Given the description of an element on the screen output the (x, y) to click on. 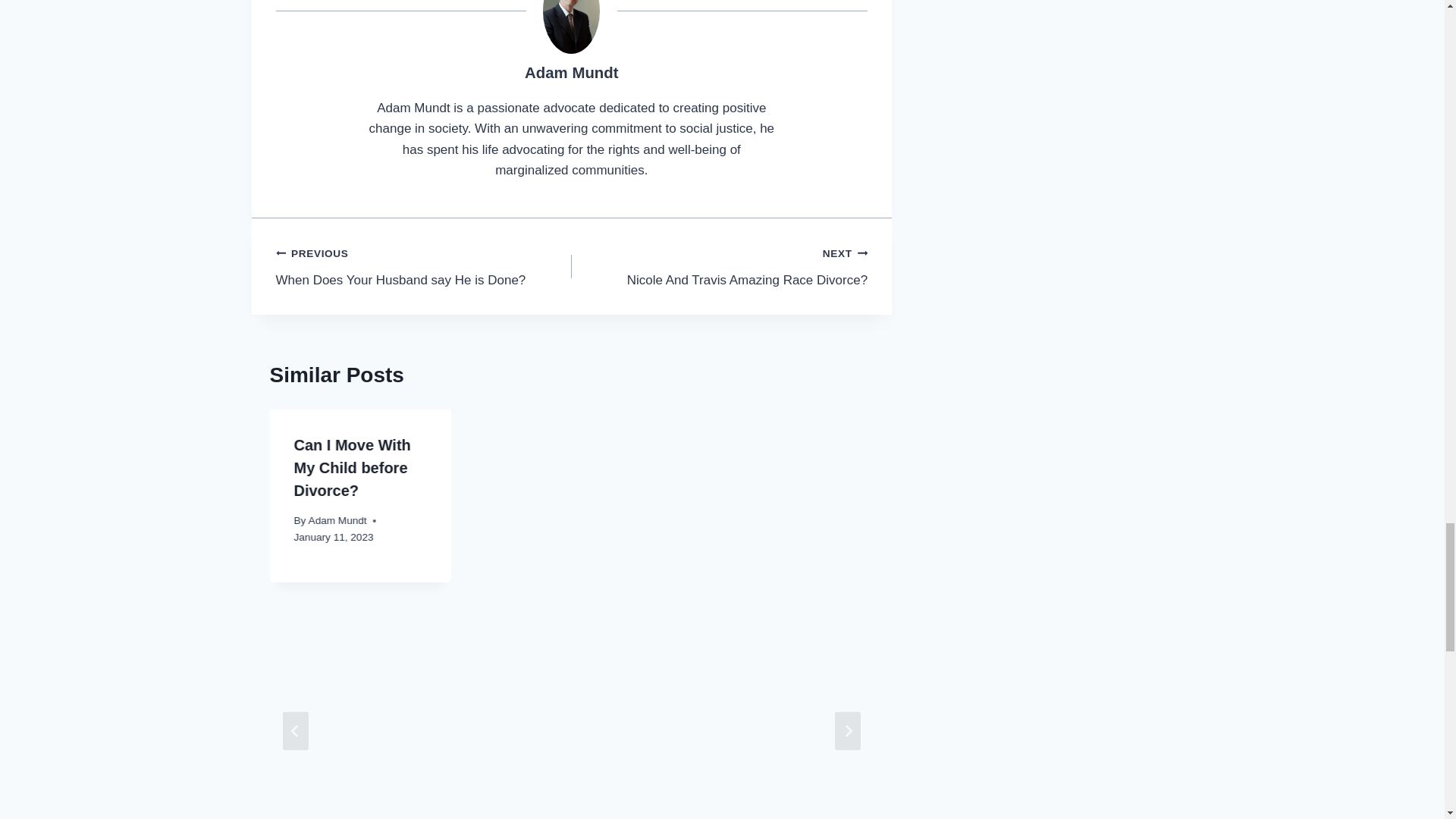
Adam Mundt (570, 72)
Posts by Adam Mundt (570, 72)
